Given the description of an element on the screen output the (x, y) to click on. 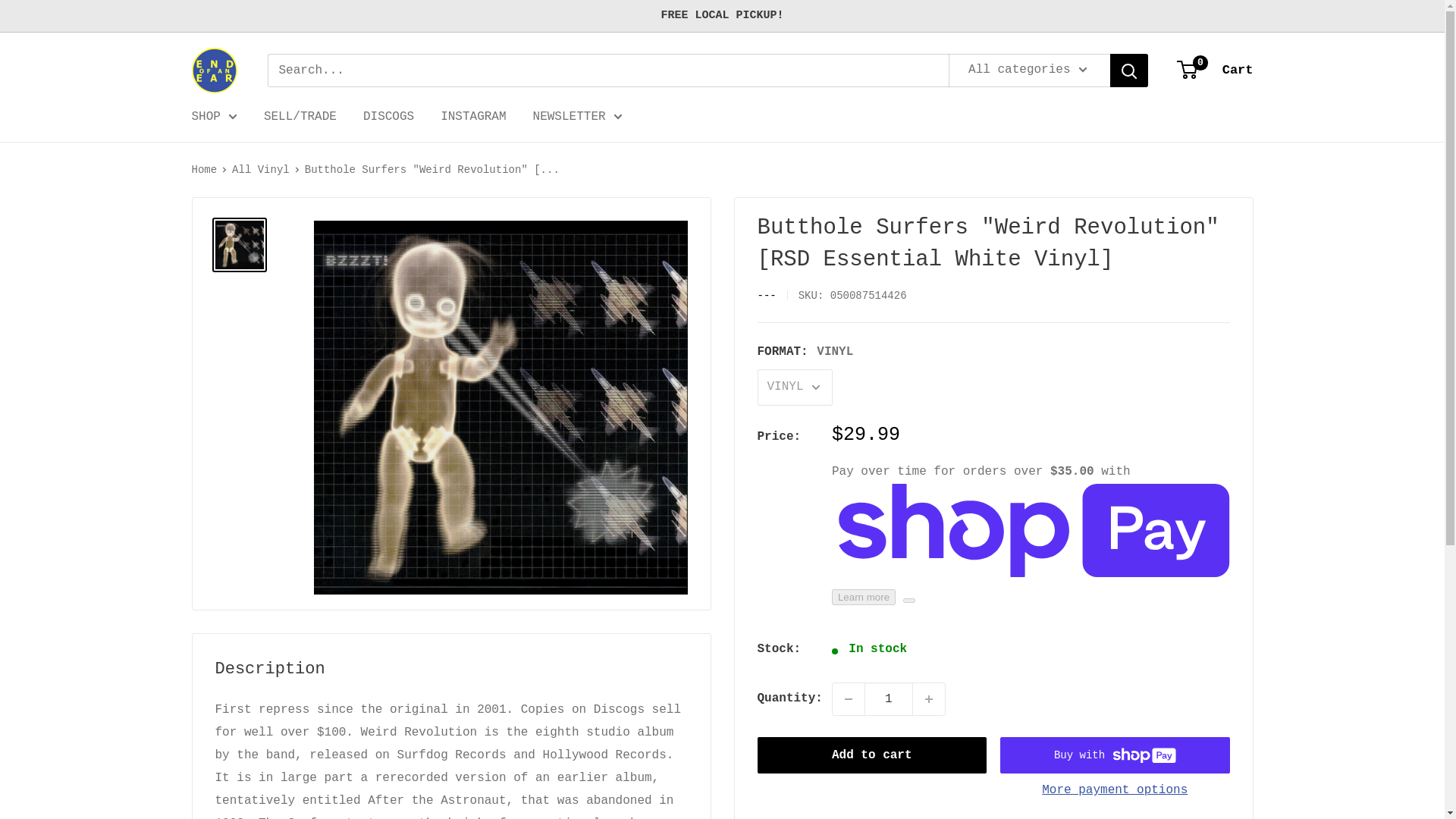
DISCOGS (1214, 70)
Decrease quantity by 1 (387, 117)
1 (848, 698)
End Of An Ear (888, 698)
Increase quantity by 1 (212, 70)
SHOP (928, 698)
